Given the description of an element on the screen output the (x, y) to click on. 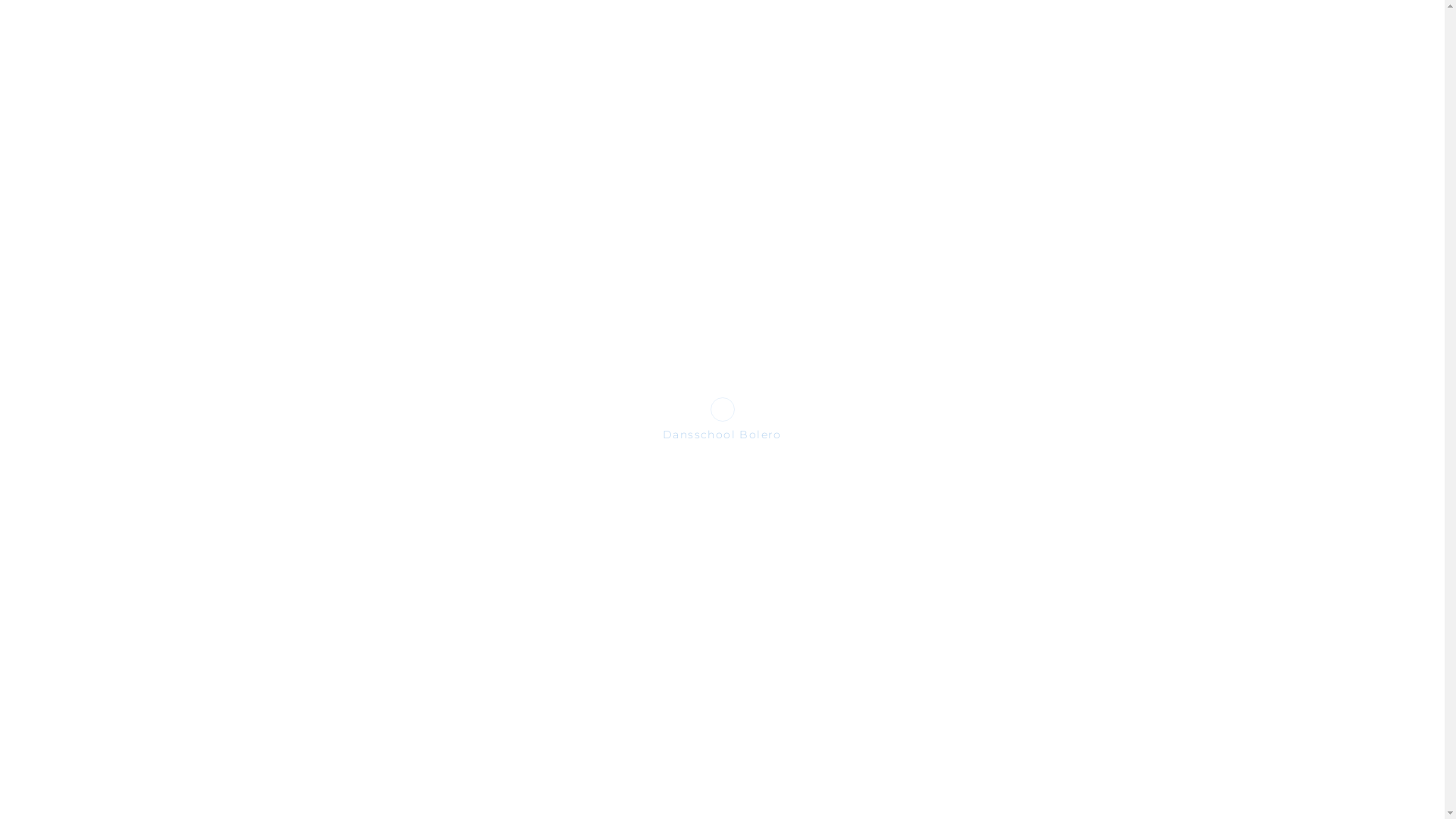
Dansschool Bolero Element type: text (91, 356)
Aanmelden Element type: text (91, 79)
Kalender Element type: text (91, 249)
Uurrooster 2023-2024 Element type: text (91, 424)
  Element type: text (1382, 42)
Home pagina Element type: text (352, 238)
Docenten Element type: text (91, 210)
Ga Terug Element type: text (249, 238)
Welkom Element type: text (91, 288)
Sintonbijt 2023 Element type: text (91, 322)
Ga Terug Element type: text (249, 237)
  Element type: text (1344, 42)
Contact Element type: text (91, 645)
Dansschool Bolero Element type: text (84, 63)
Inschrijvingen Element type: text (91, 508)
Groepen Element type: text (91, 171)
Dansoptredens Element type: text (91, 576)
Dansstijlen Element type: text (91, 390)
Lidgeld Element type: text (91, 542)
Jaaroverzicht 2023-2024 Element type: text (91, 466)
Home Element type: text (91, 133)
Documentatie & FAQ Element type: text (91, 611)
